Given the description of an element on the screen output the (x, y) to click on. 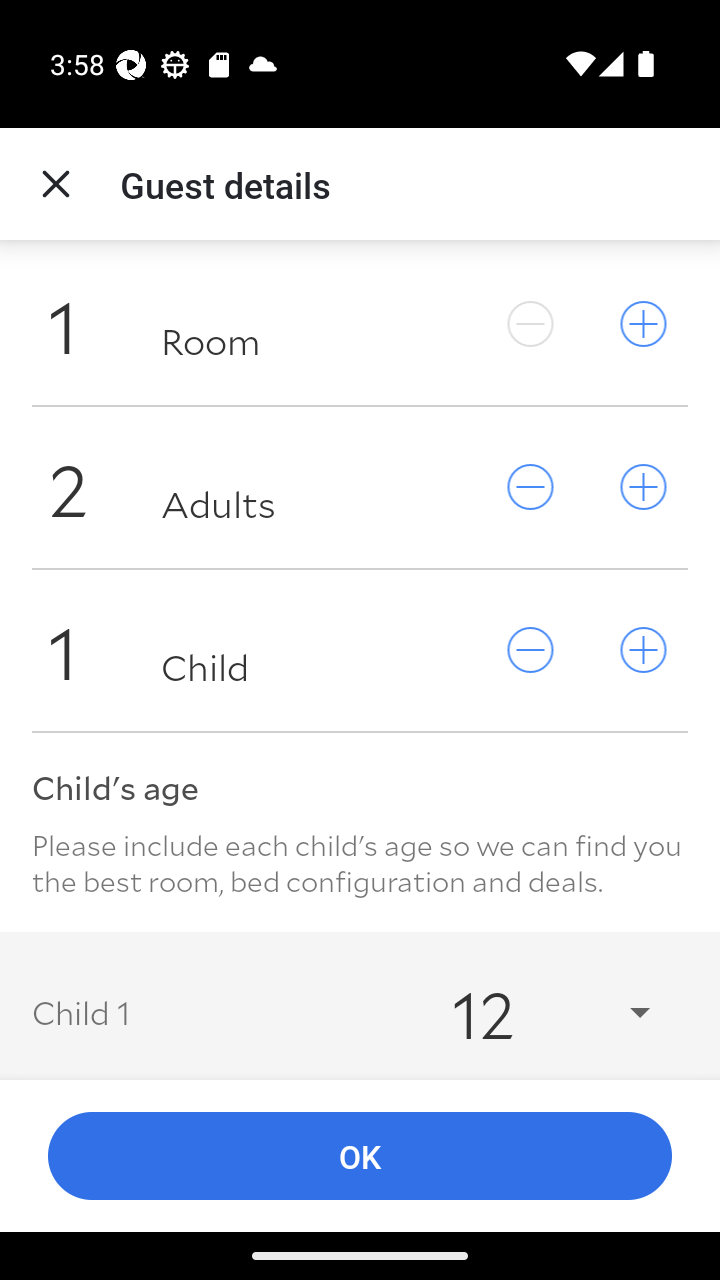
12 (531, 1012)
OK (359, 1156)
